Given the description of an element on the screen output the (x, y) to click on. 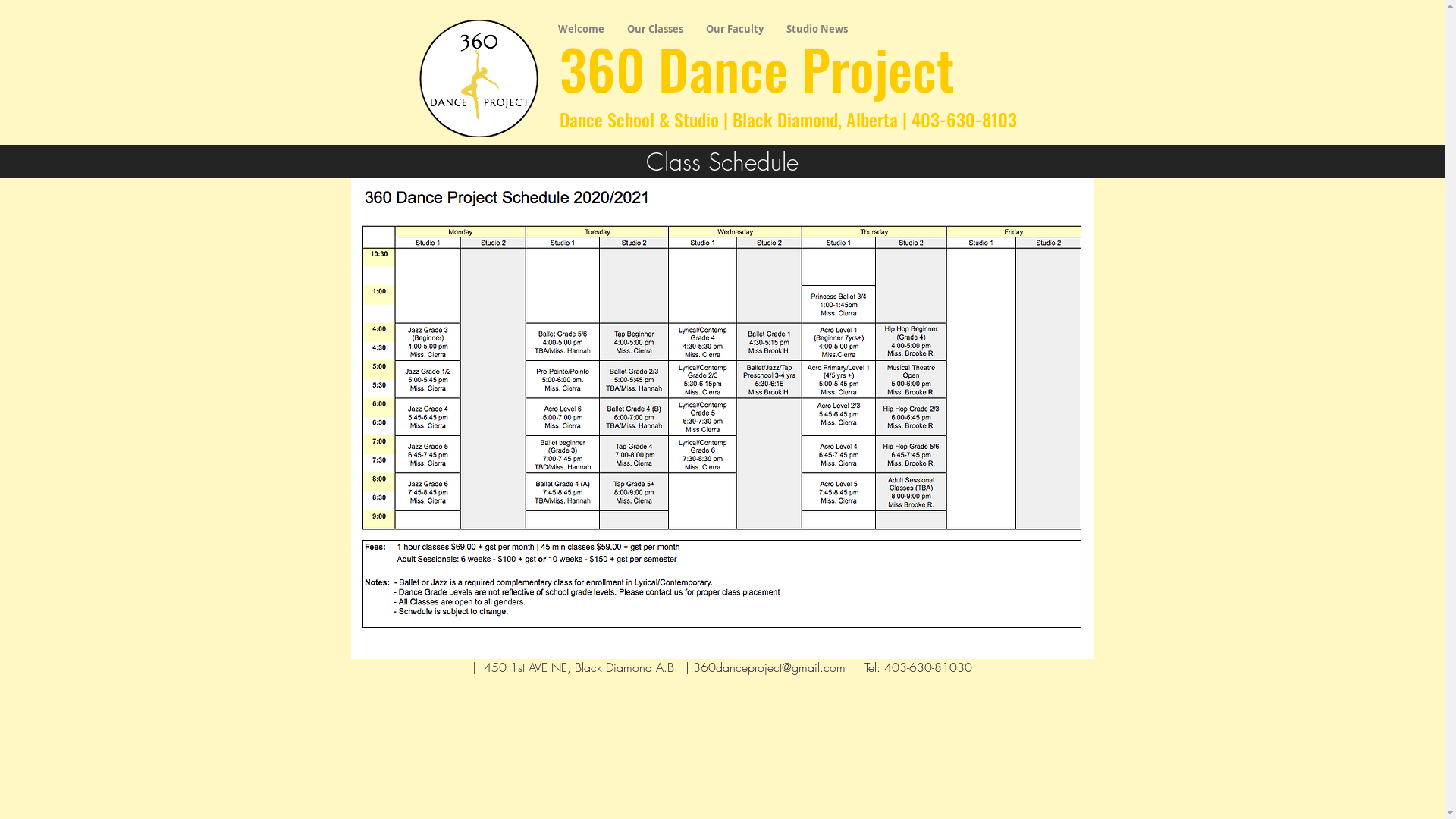
Welcome Element type: text (580, 28)
schedule2020.png Element type: hover (721, 407)
Studio News Element type: text (817, 28)
Our Faculty Element type: text (734, 28)
360danceproject@gmail.com Element type: text (769, 666)
Our Classes Element type: text (654, 28)
